Given the description of an element on the screen output the (x, y) to click on. 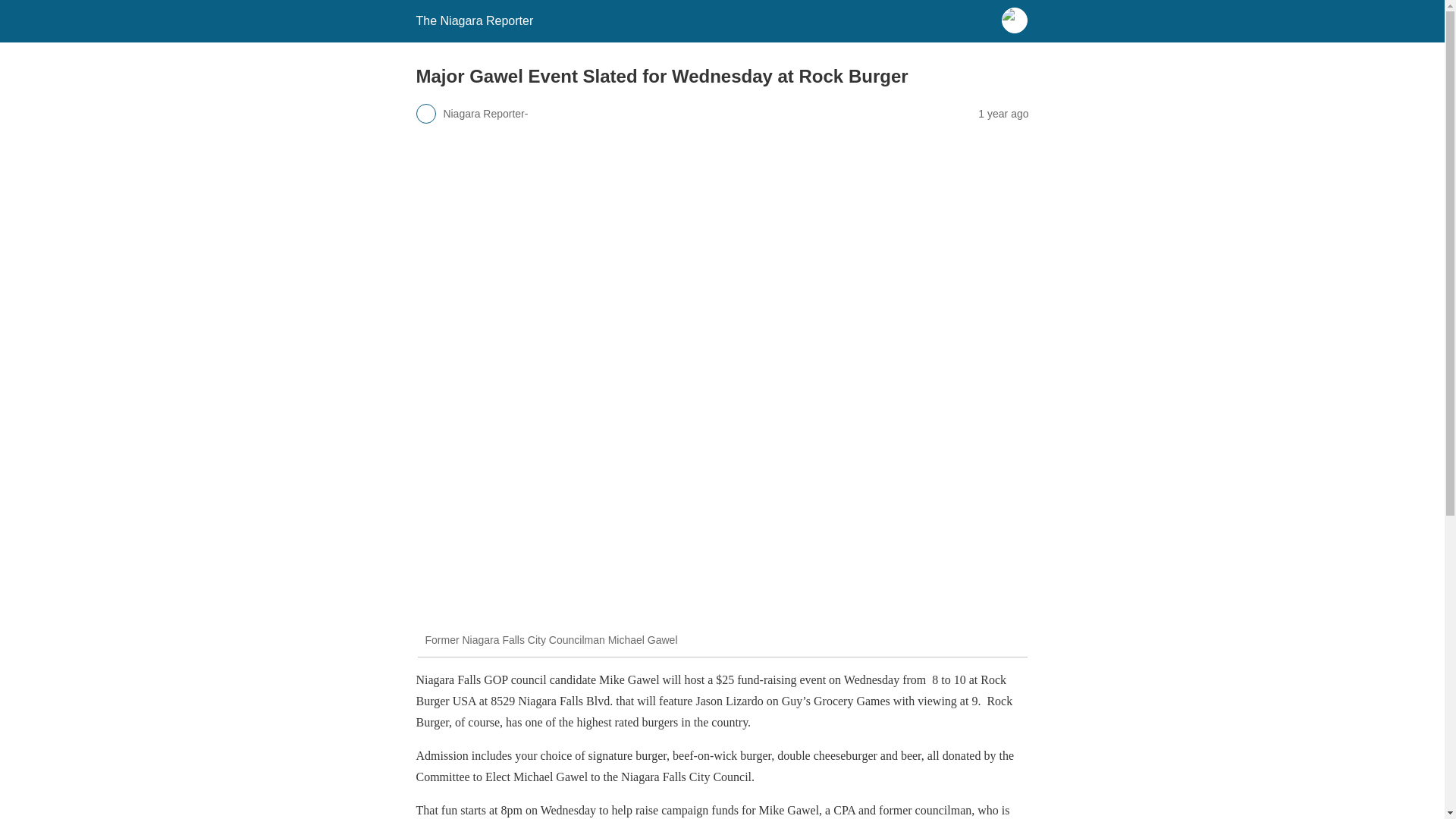
The Niagara Reporter (473, 20)
